Given the description of an element on the screen output the (x, y) to click on. 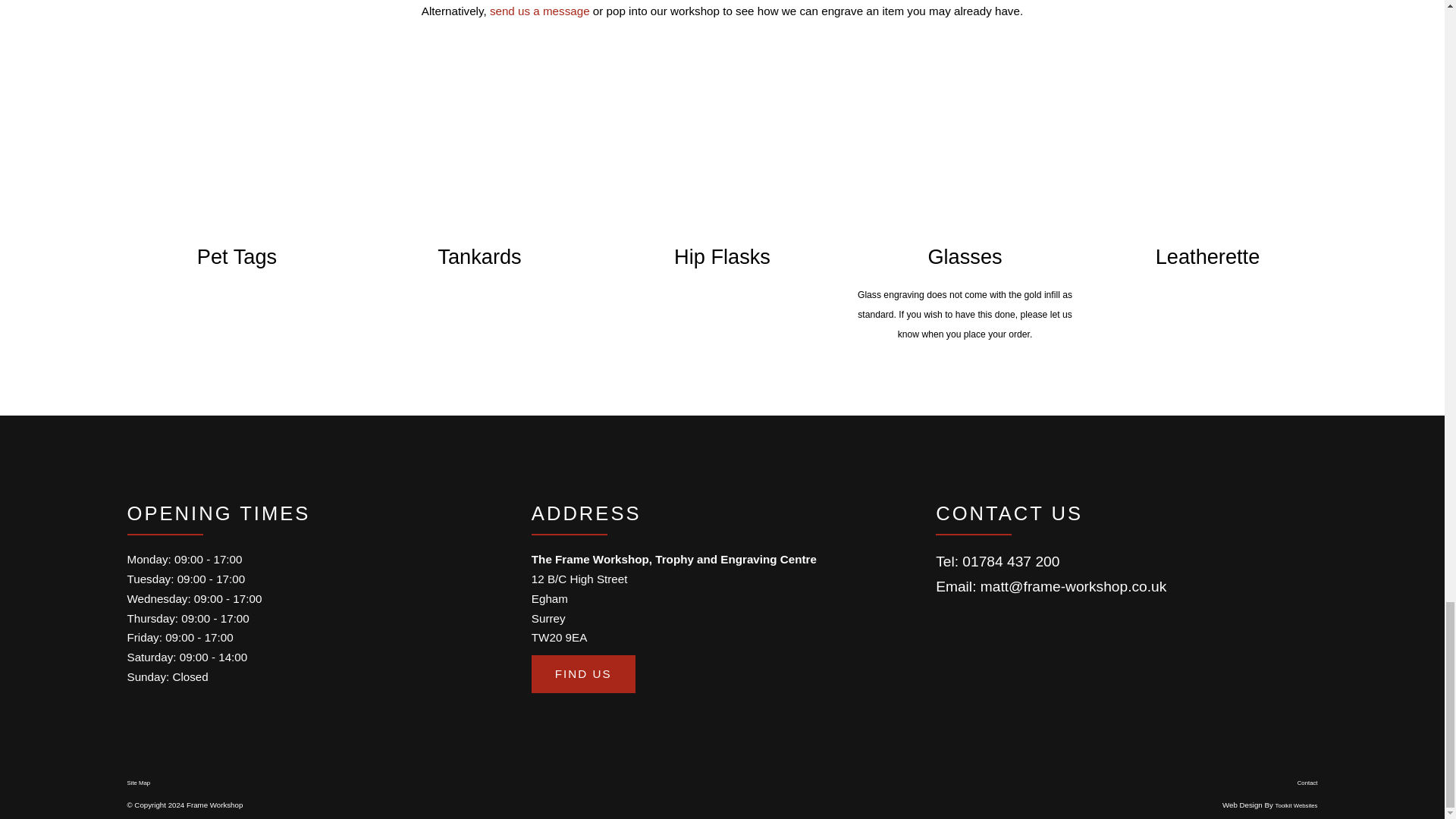
Contact (1307, 782)
Site Map (139, 782)
send us a message (540, 10)
Toolkit Websites (1296, 805)
FIND US (582, 673)
Tel: 01784 437 200 (997, 561)
